Given the description of an element on the screen output the (x, y) to click on. 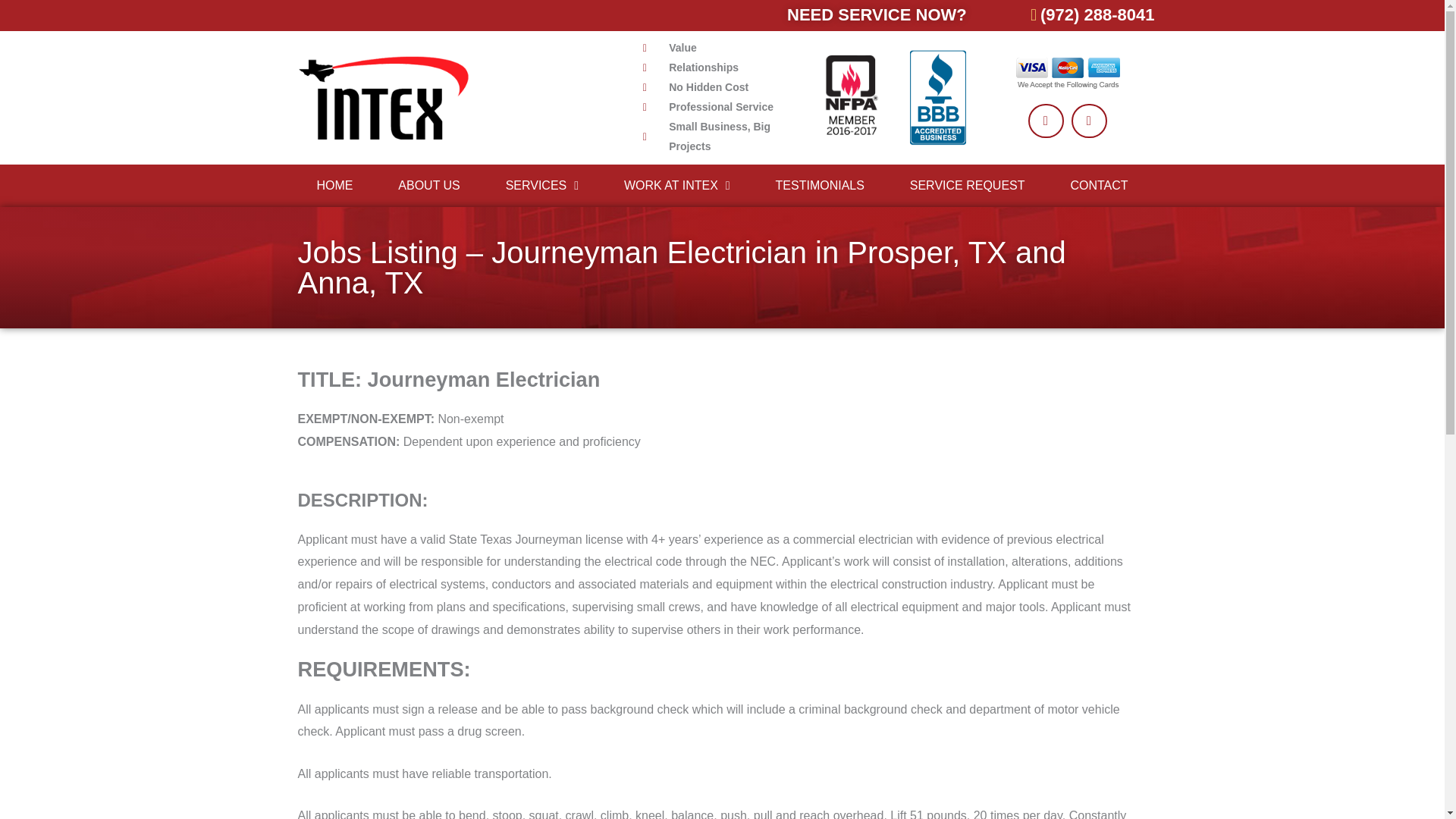
SERVICE REQUEST (967, 185)
SERVICES (542, 185)
TESTIMONIALS (819, 185)
CONTACT (1098, 185)
WORK AT INTEX (676, 185)
HOME (334, 185)
ABOUT US (428, 185)
